Given the description of an element on the screen output the (x, y) to click on. 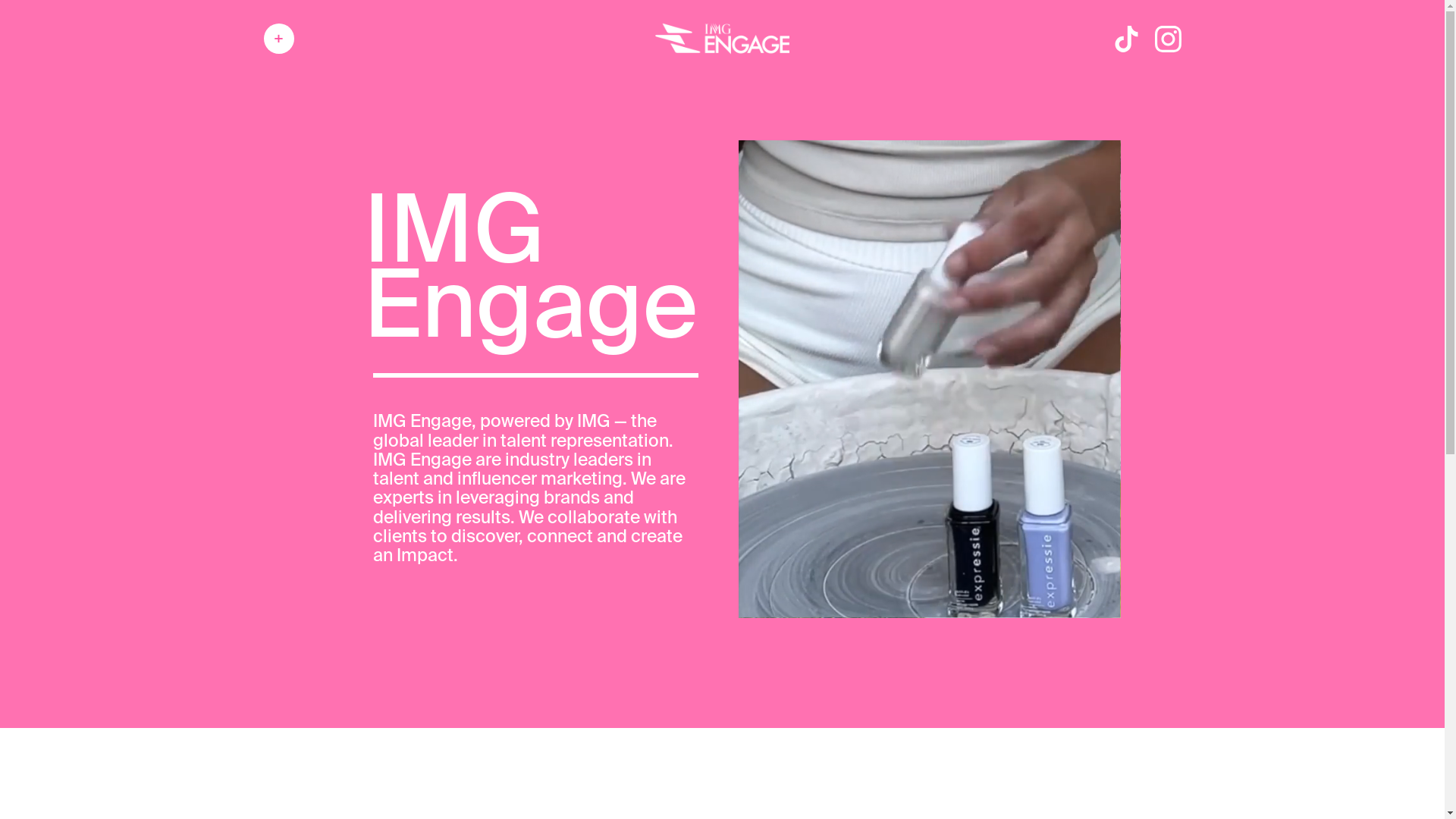
+ Element type: text (278, 38)
